Given the description of an element on the screen output the (x, y) to click on. 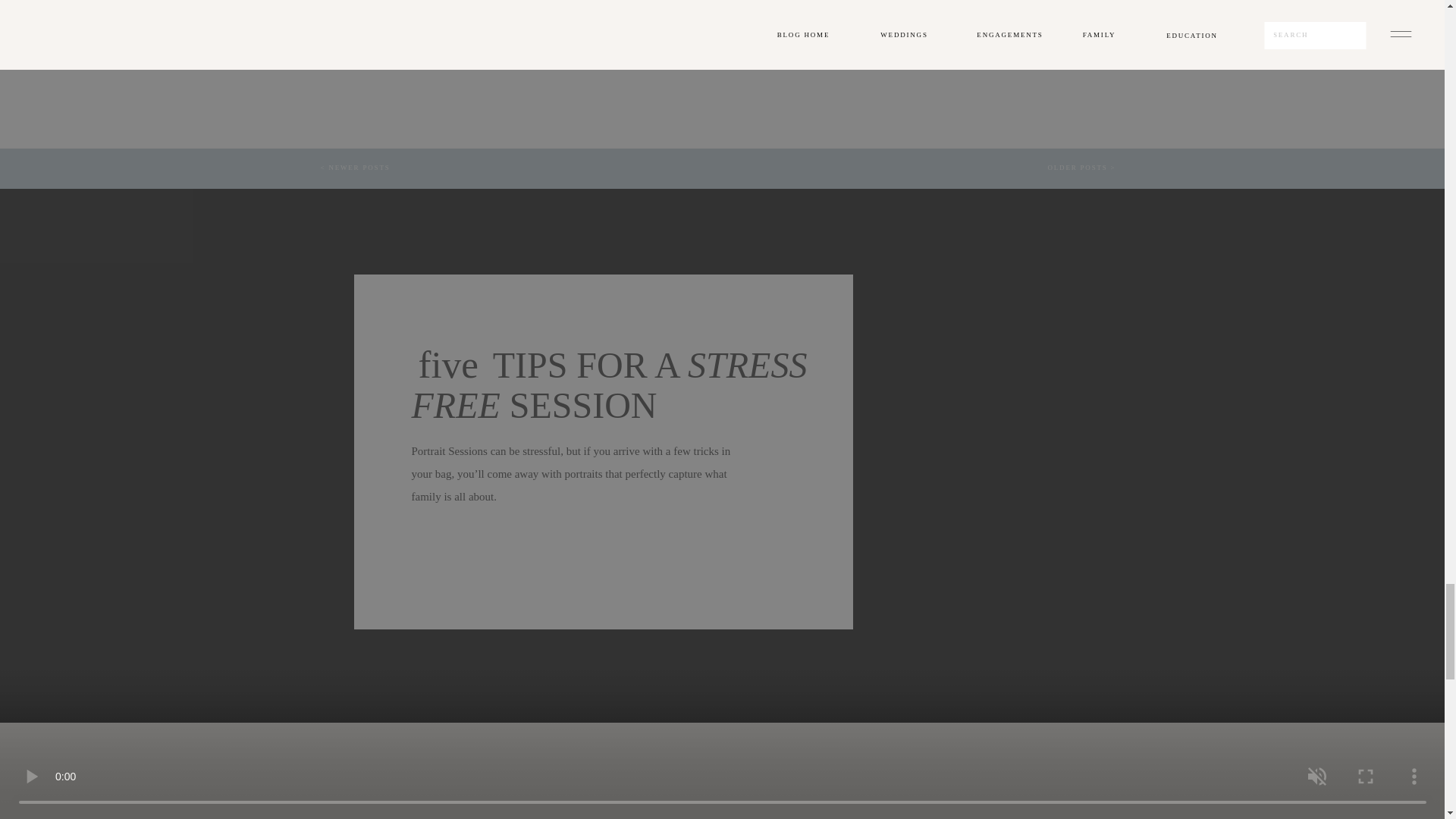
Rustic Chic Sotterley Plantation Wedding (708, 5)
Rustic Chic Sotterley Plantation Wedding (933, 40)
arrow (708, 5)
